Given the description of an element on the screen output the (x, y) to click on. 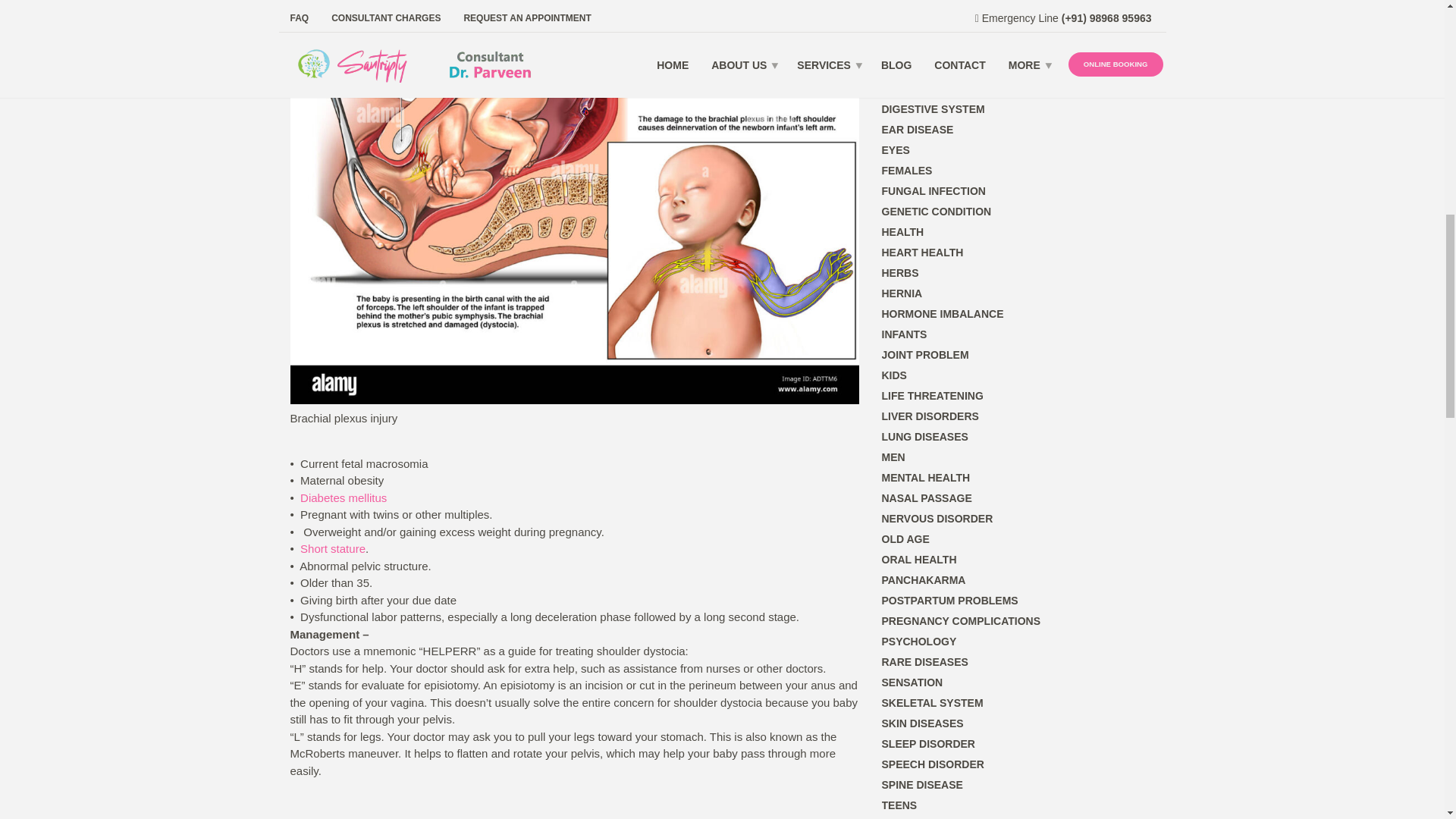
Short stature (332, 548)
Diabetes mellitus (343, 497)
